Given the description of an element on the screen output the (x, y) to click on. 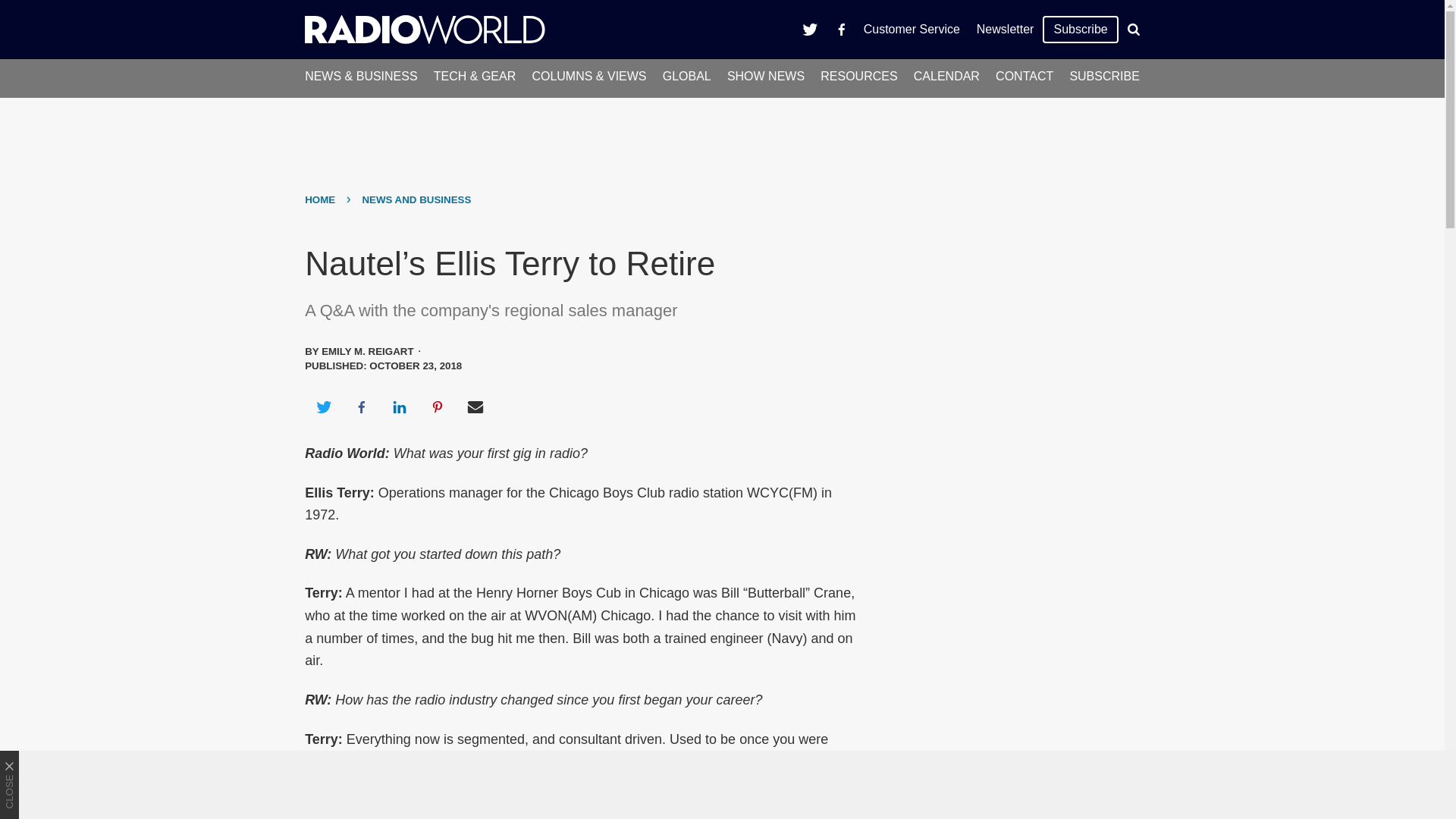
Share on Twitter (323, 406)
Share on Pinterest (438, 406)
Share via Email (476, 406)
Customer Service (912, 29)
Share on Facebook (361, 406)
Share on LinkedIn (399, 406)
